Given the description of an element on the screen output the (x, y) to click on. 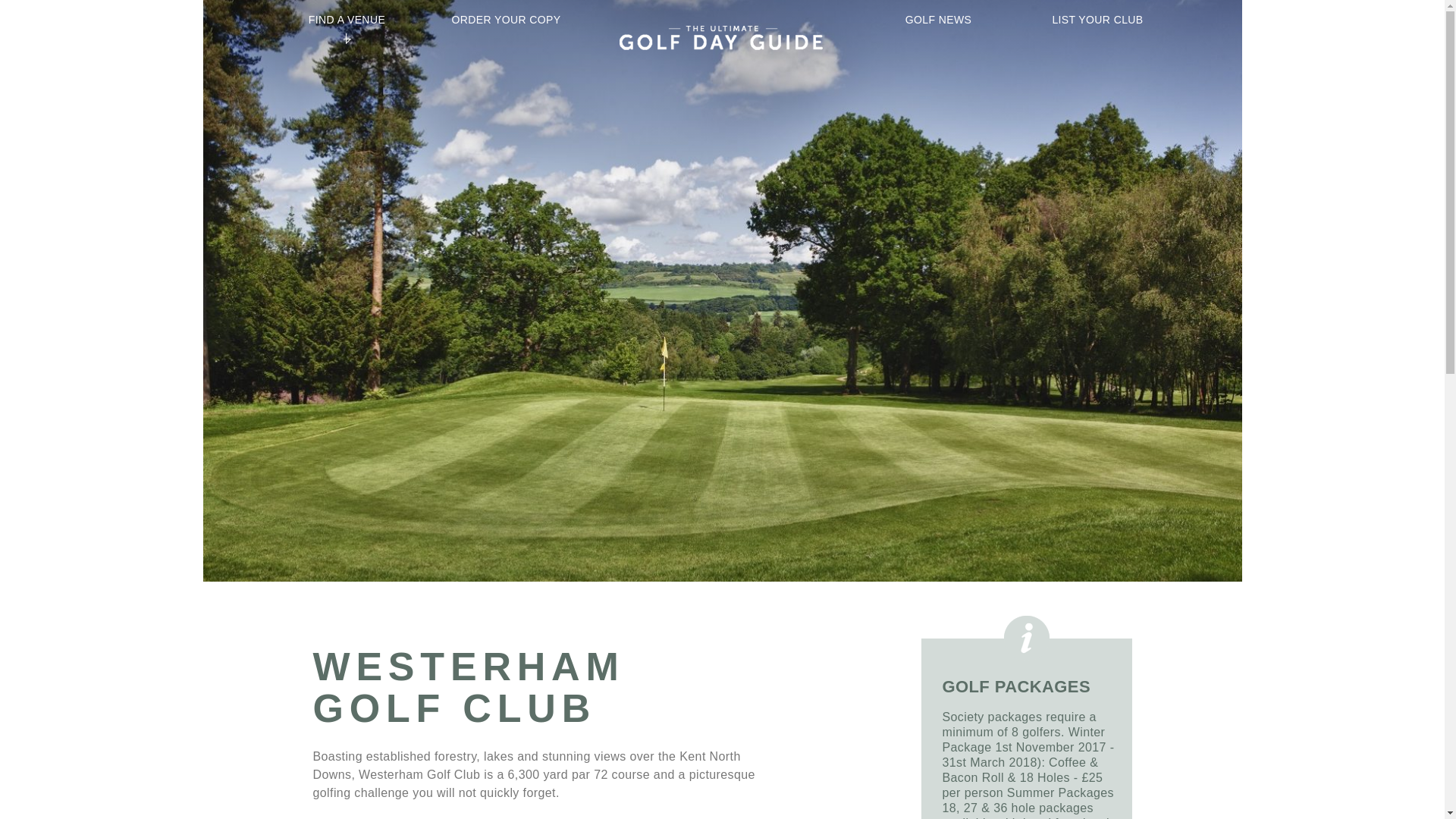
ORDER YOUR COPY (505, 19)
FIND A VENUE (346, 19)
LIST YOUR CLUB (1097, 19)
GOLF NEWS (938, 19)
